Given the description of an element on the screen output the (x, y) to click on. 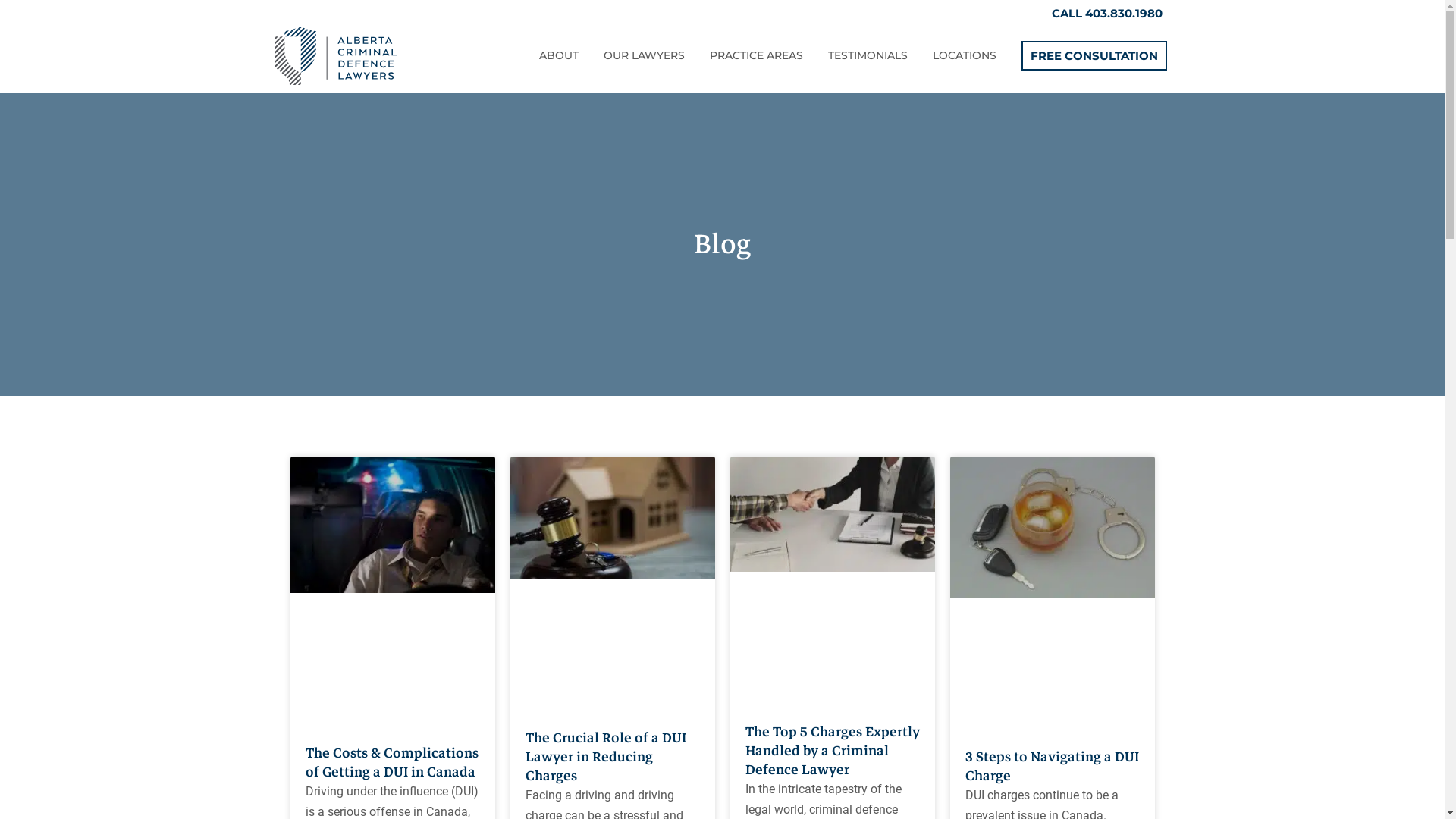
OUR LAWYERS Element type: text (643, 55)
TESTIMONIALS Element type: text (867, 55)
FREE CONSULTATION Element type: text (1094, 55)
PRACTICE AREAS Element type: text (756, 55)
The Costs & Complications of Getting a DUI in Canada Element type: text (390, 762)
3 Steps to Navigating a DUI Charge Element type: text (1051, 766)
CALL 403.830.1980 Element type: text (1106, 13)
LOCATIONS Element type: text (964, 55)
ABOUT Element type: text (558, 55)
The Crucial Role of a DUI Lawyer in Reducing Charges Element type: text (604, 756)
